Given the description of an element on the screen output the (x, y) to click on. 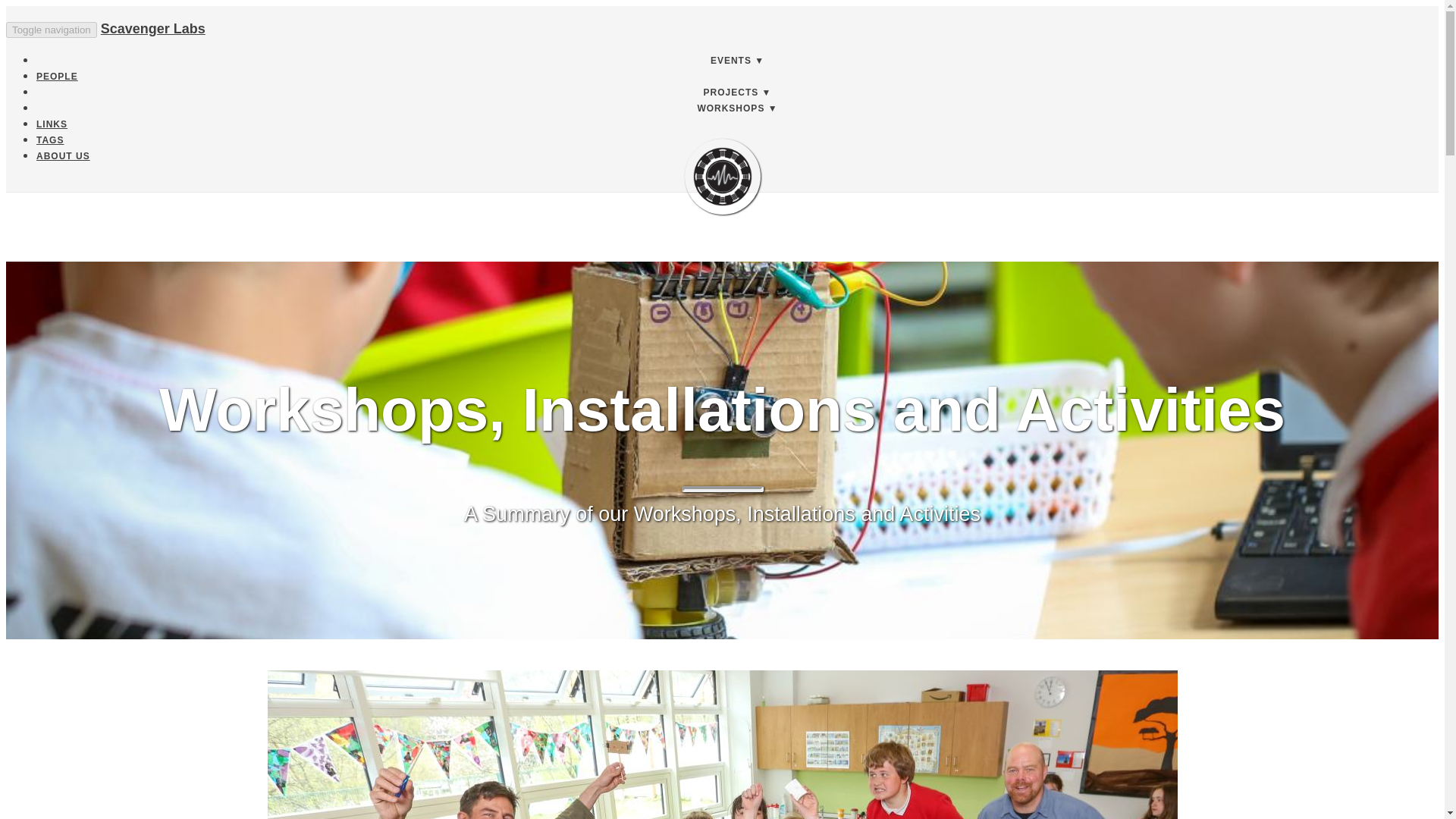
Tags (50, 140)
Scavenger Labs (722, 176)
People (57, 76)
TAGS (50, 140)
Toggle navigation (51, 29)
Scavenger Labs (152, 28)
About Us (63, 155)
EVENTS (737, 60)
LINKS (51, 123)
PROJECTS (737, 91)
ABOUT US (63, 155)
WORKSHOPS (737, 108)
PEOPLE (57, 76)
Links (51, 123)
